Given the description of an element on the screen output the (x, y) to click on. 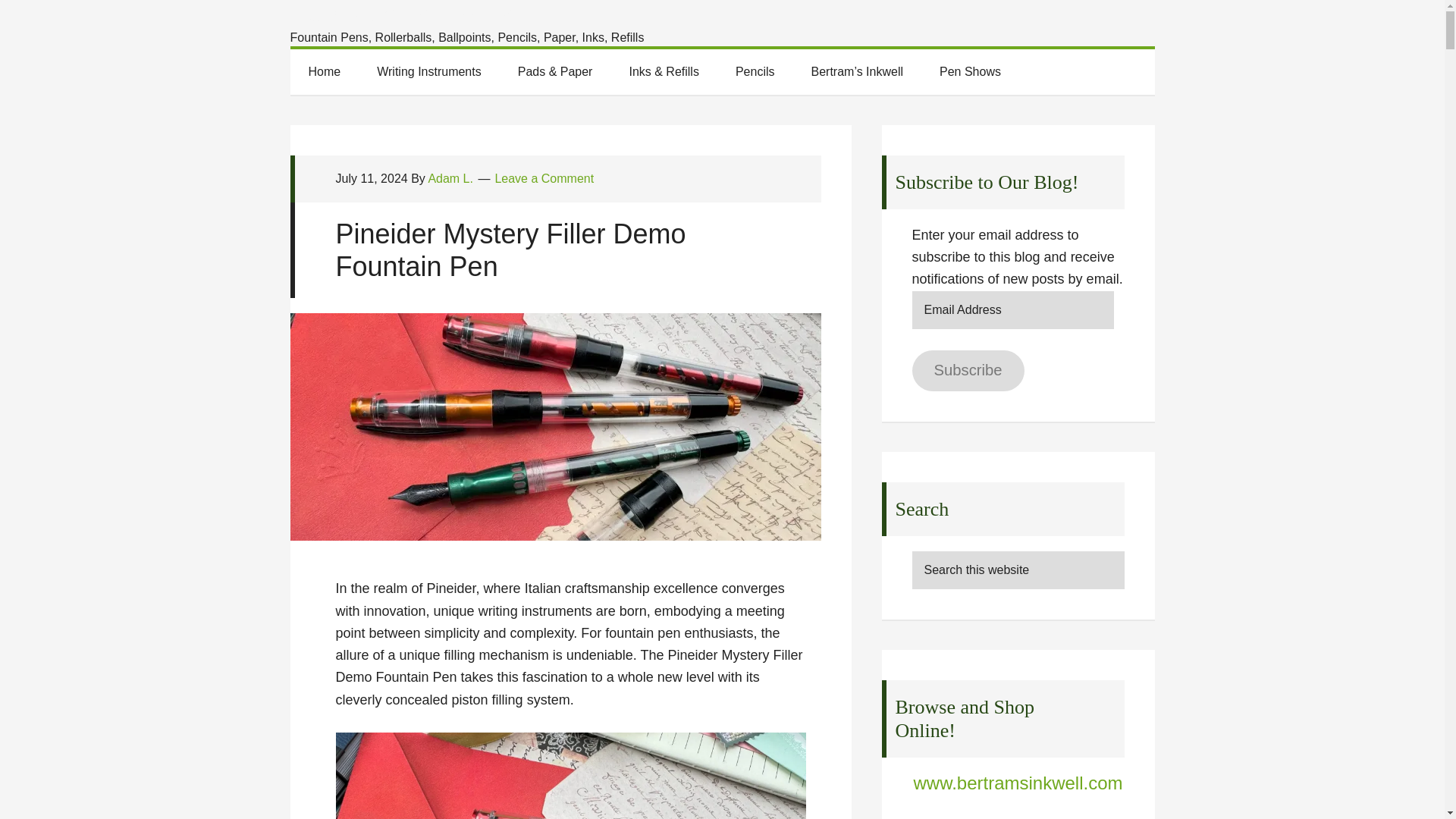
Adam L. (450, 178)
Home (323, 72)
Pineider Mystery Filler Demo Fountain Pen (509, 249)
Bertram's Inkwell (414, 15)
Pencils (755, 72)
Writing Instruments (428, 72)
Leave a Comment (544, 178)
Pen Shows (970, 72)
